Given the description of an element on the screen output the (x, y) to click on. 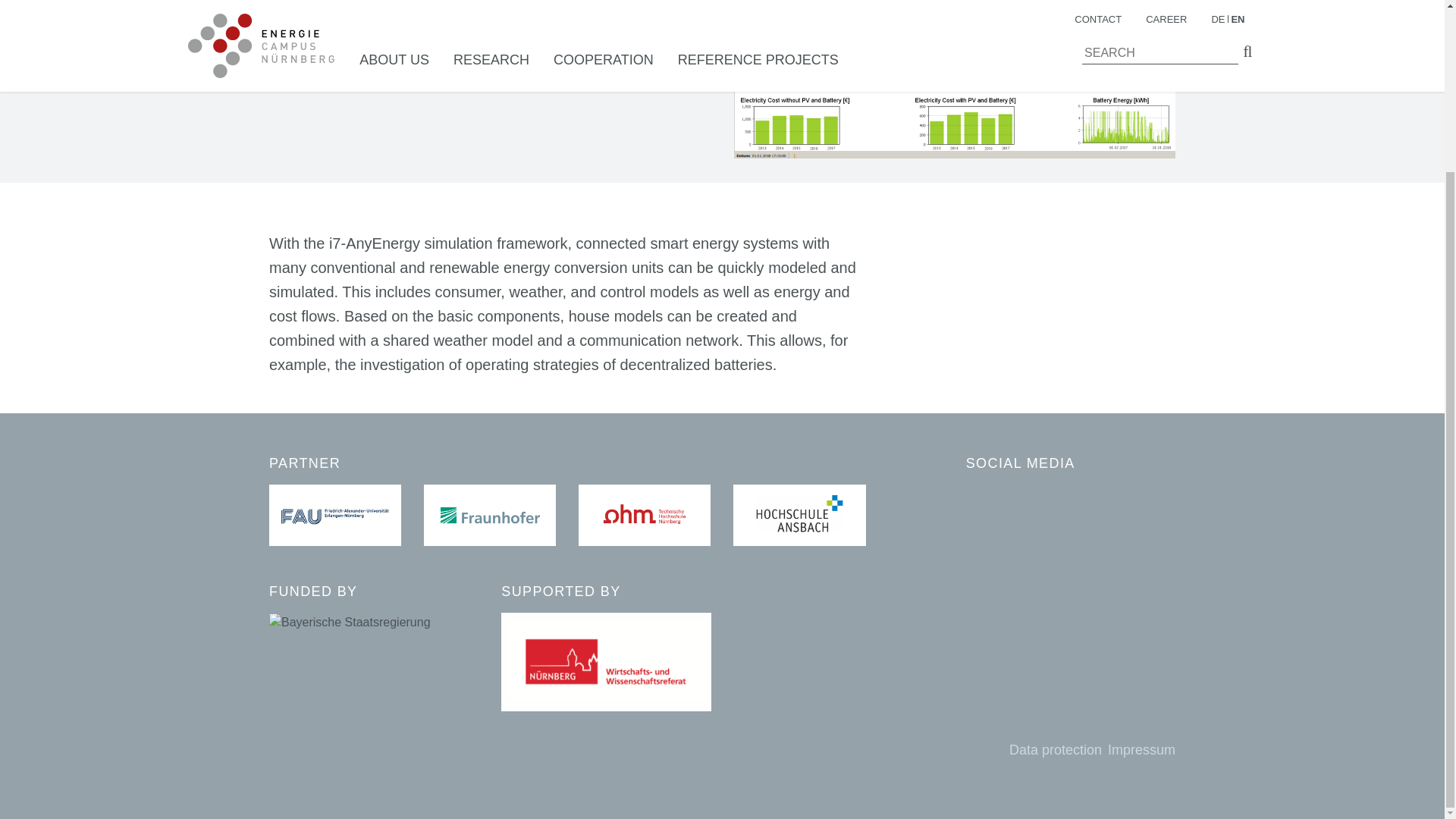
Hochschule Ansbach (798, 515)
Fraunhofer-Gesellschaft (489, 515)
Bayerische Staatsregierung (349, 622)
